Given the description of an element on the screen output the (x, y) to click on. 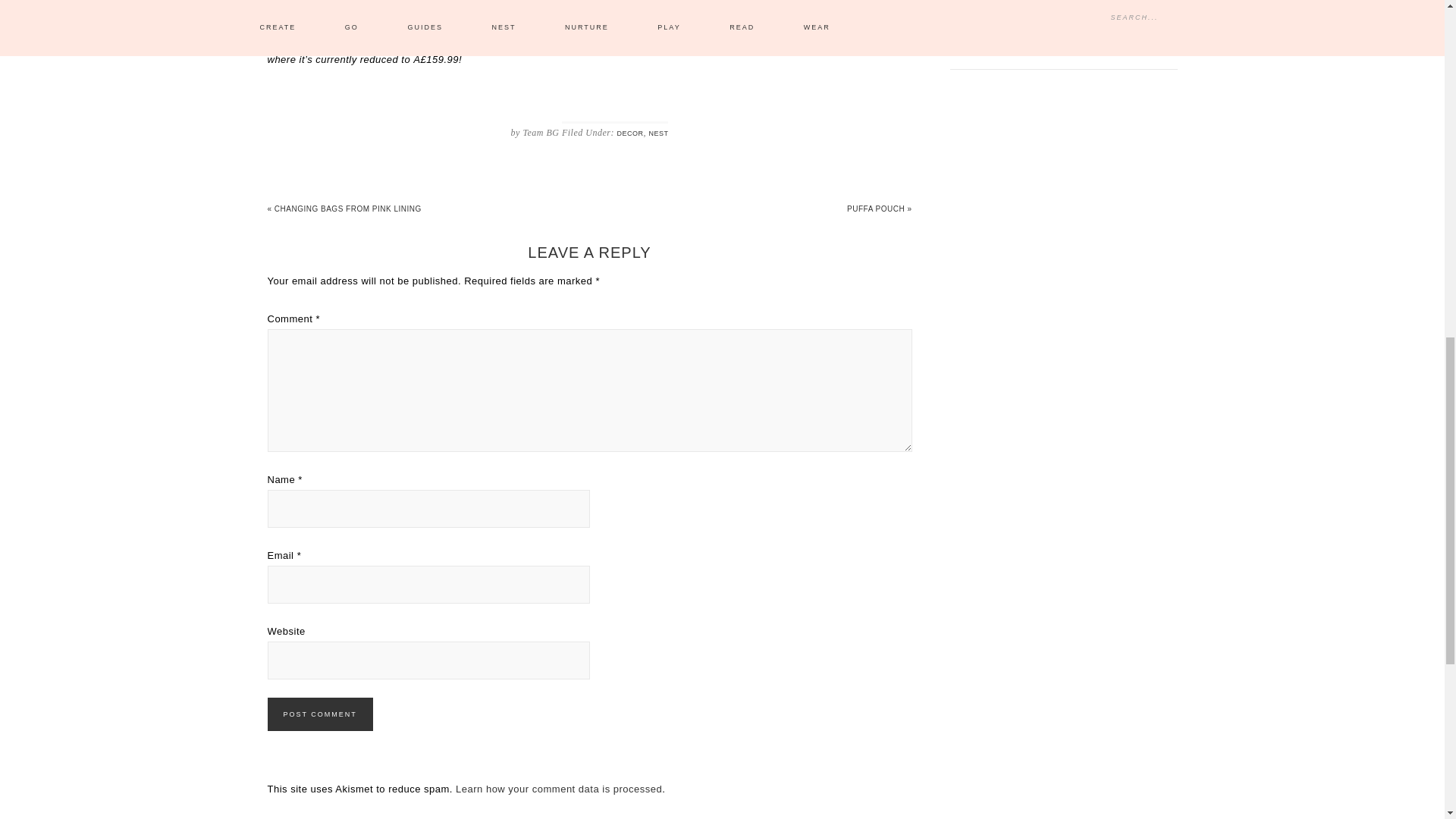
Post Comment (319, 714)
Thomas The Tank Engine Bed (846, 39)
